Given the description of an element on the screen output the (x, y) to click on. 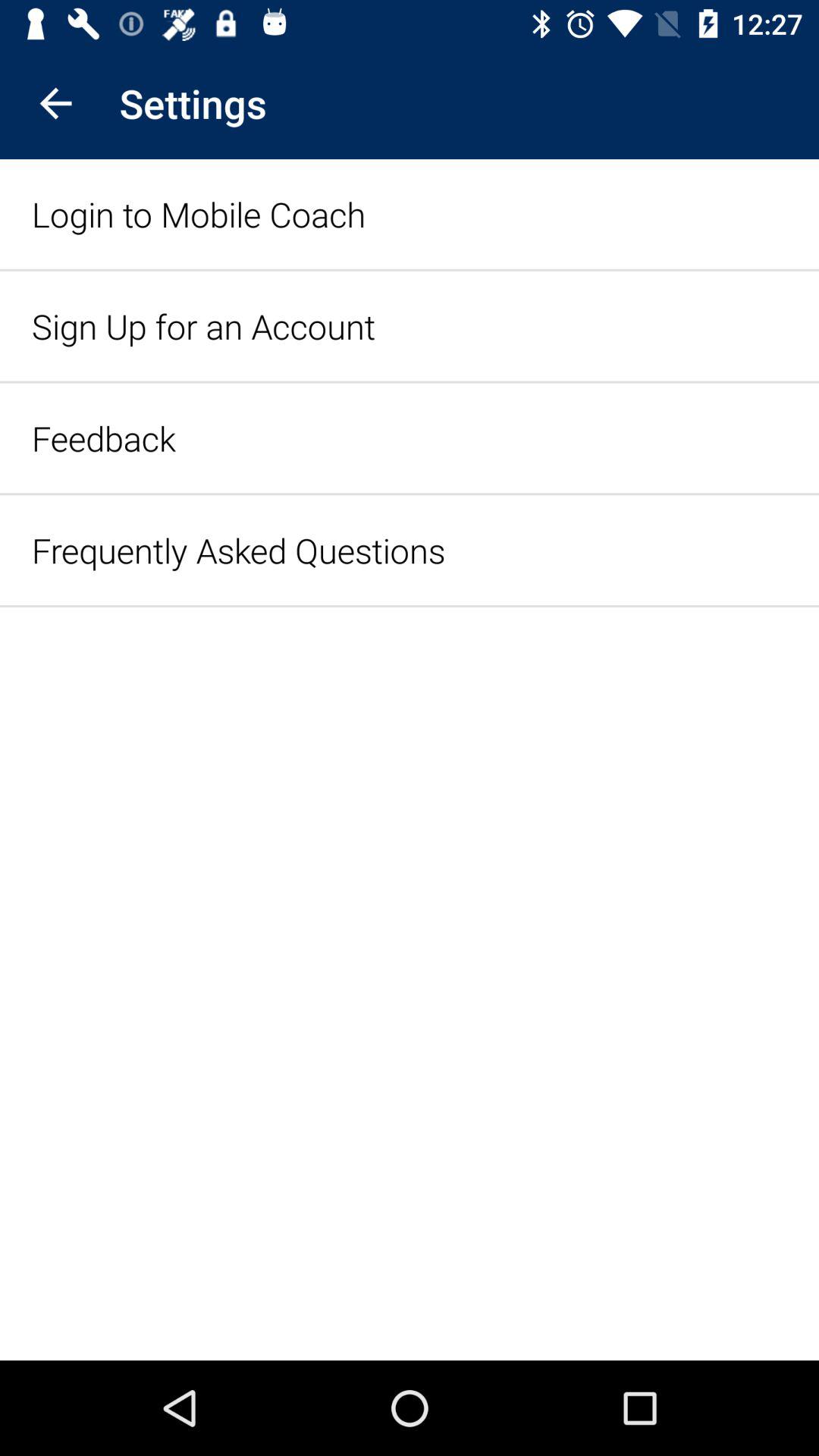
open feedback (103, 438)
